Given the description of an element on the screen output the (x, y) to click on. 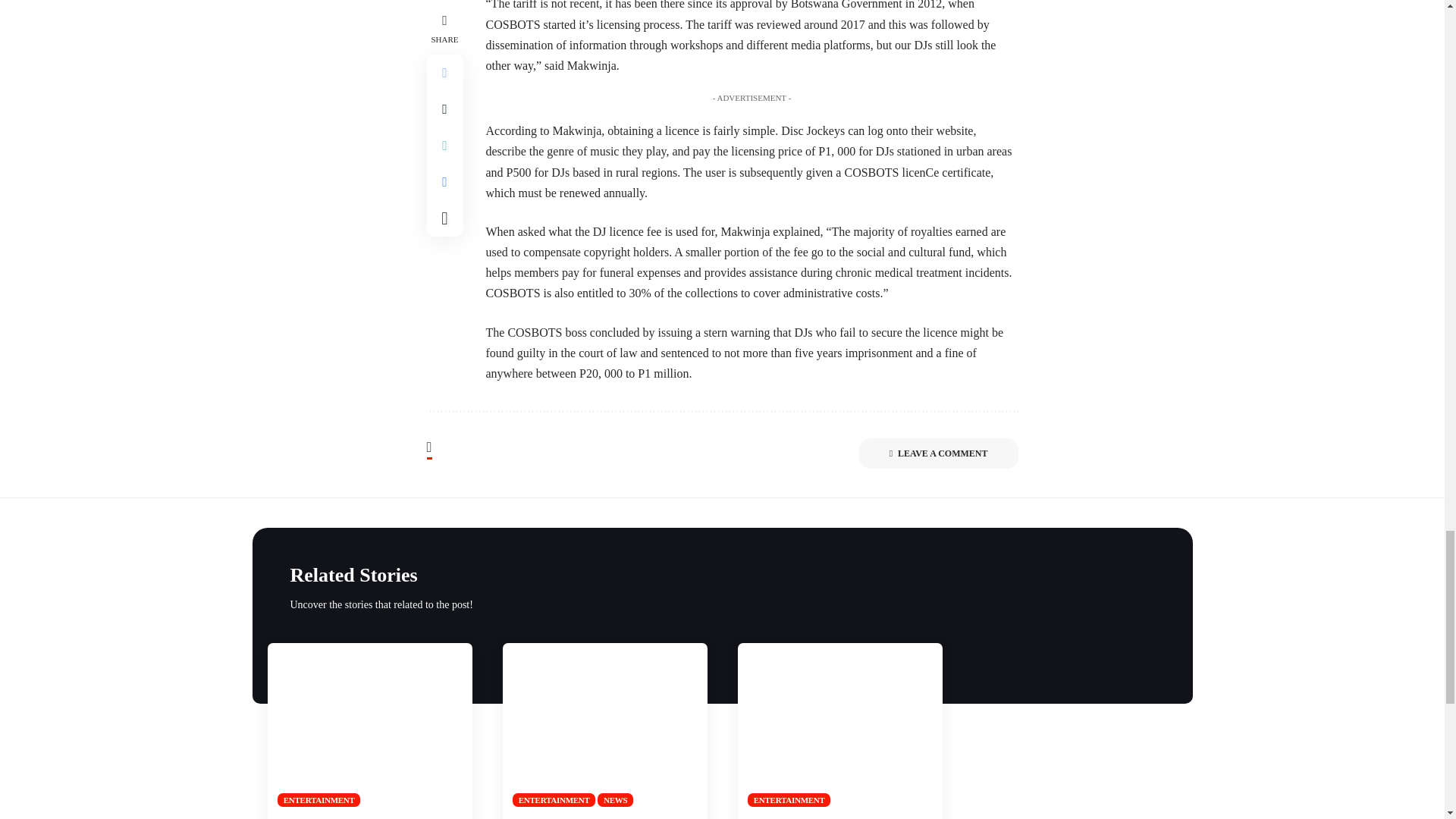
Big weekend Friday 27 October 2023 (839, 724)
Former Miss Millennium Passes On (368, 724)
Big weekend Friday January 19, 2024 (604, 724)
